Given the description of an element on the screen output the (x, y) to click on. 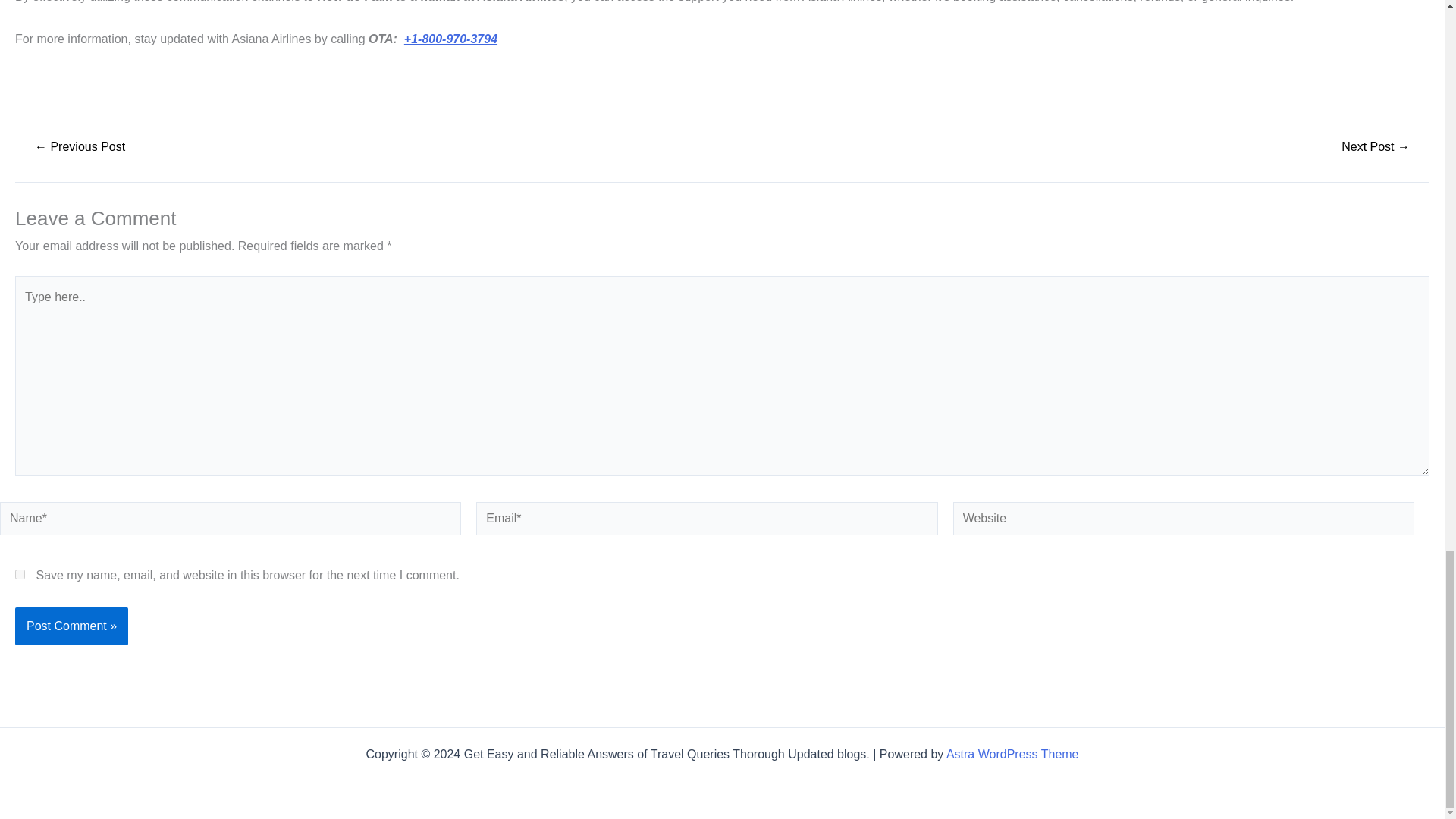
How do I talk to a human at Turkish Airlines? (79, 146)
Astra WordPress Theme (1012, 753)
How do I talk to a live person at Asiana Airlines ? (1375, 146)
yes (19, 574)
